Given the description of an element on the screen output the (x, y) to click on. 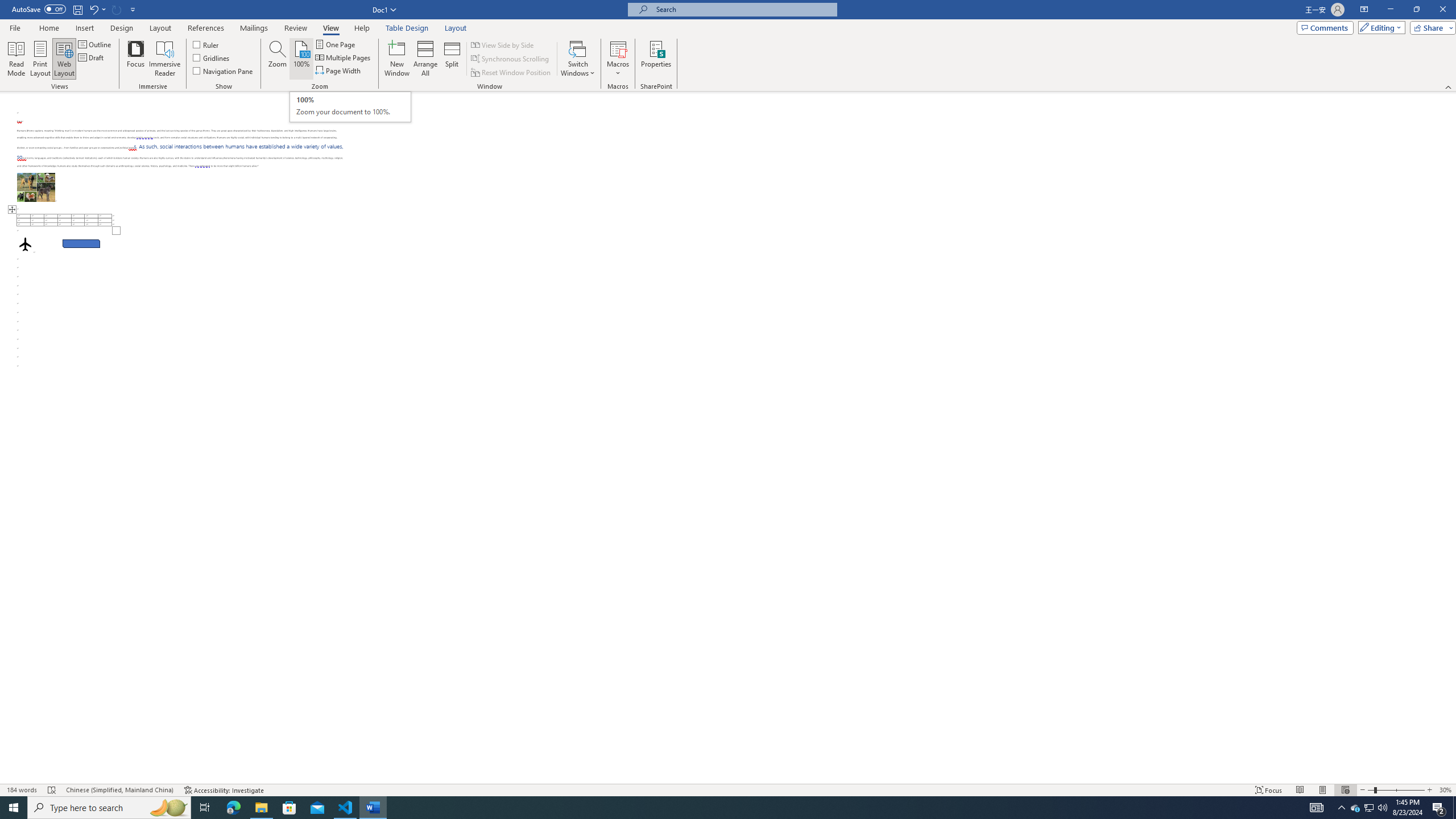
Gridlines (211, 56)
Language Chinese (Simplified, Mainland China) (119, 790)
View Side by Side (502, 44)
Spelling and Grammar Check Errors (52, 790)
Immersive Reader (165, 58)
Can't Repeat (117, 9)
One Page (335, 44)
Reset Window Position (511, 72)
Zoom... (276, 58)
Focus (135, 58)
Morphological variation in six dogs (36, 187)
Undo Row Height Spinner (96, 9)
Ruler (206, 44)
